Given the description of an element on the screen output the (x, y) to click on. 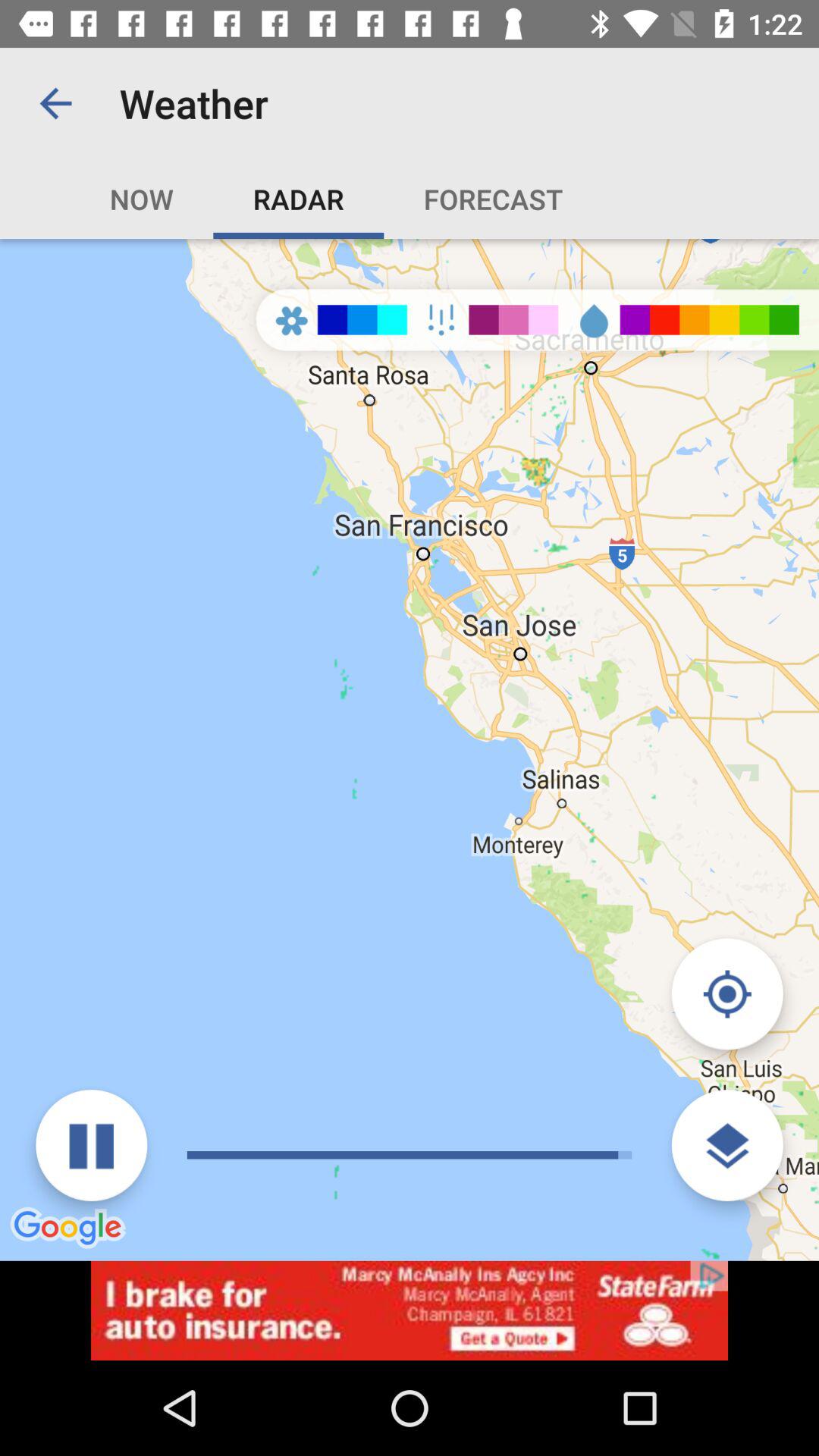
layers (727, 1145)
